Given the description of an element on the screen output the (x, y) to click on. 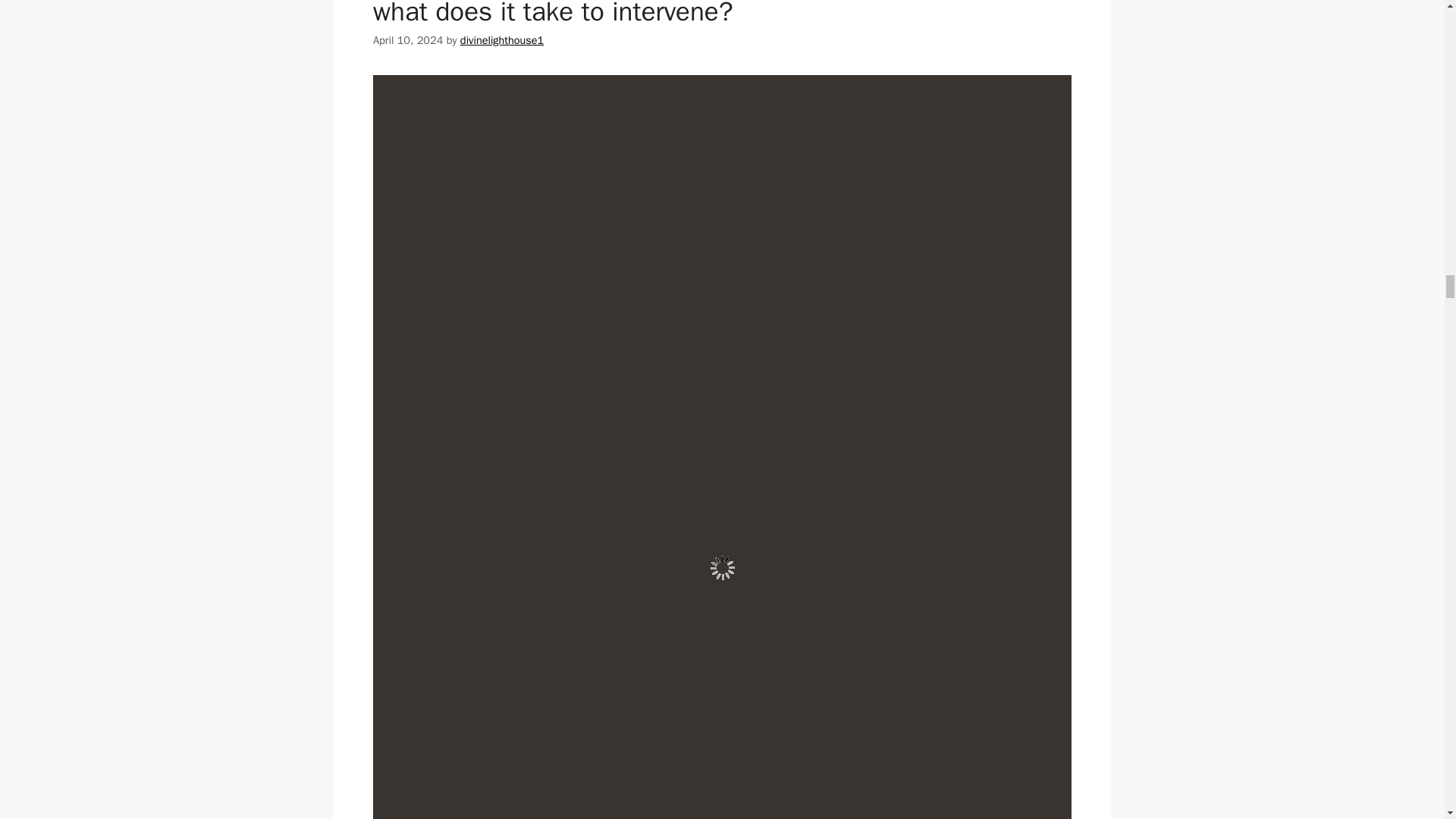
View all posts by divinelighthouse1 (501, 39)
